Given the description of an element on the screen output the (x, y) to click on. 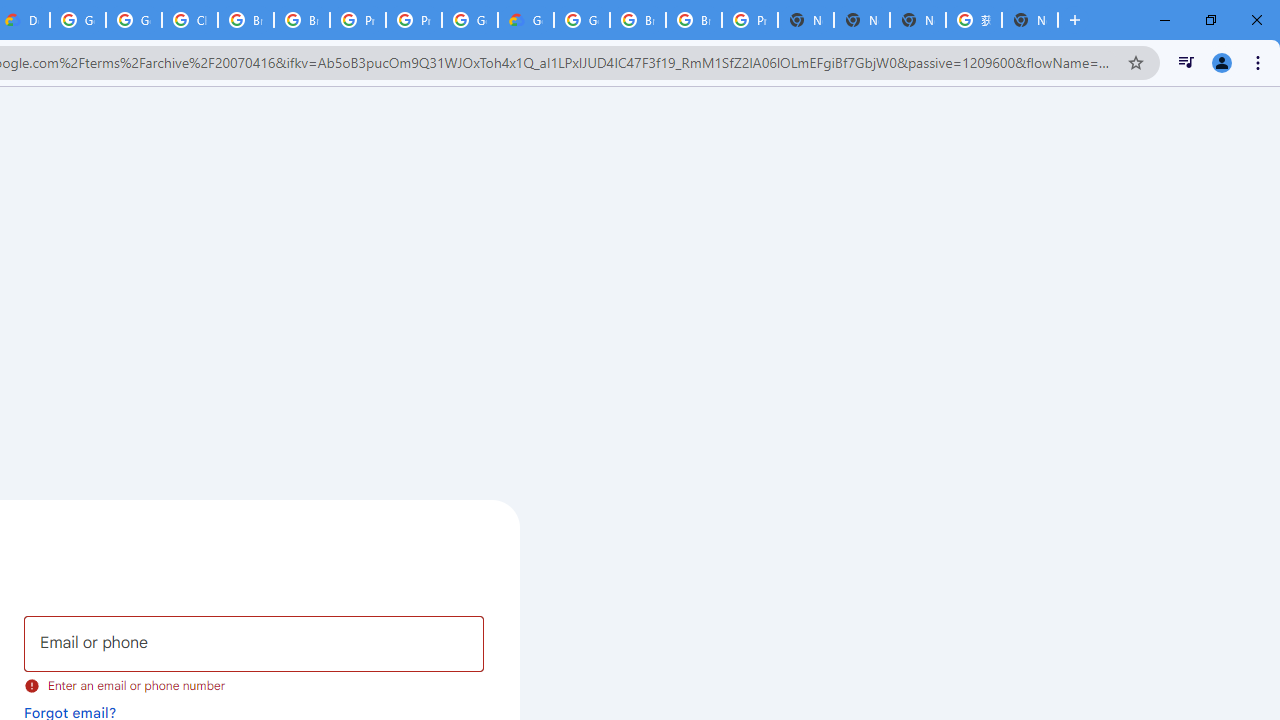
Email or phone (253, 643)
Browse Chrome as a guest - Computer - Google Chrome Help (693, 20)
New Tab (1030, 20)
Browse Chrome as a guest - Computer - Google Chrome Help (637, 20)
Google Cloud Platform (77, 20)
Browse Chrome as a guest - Computer - Google Chrome Help (245, 20)
Google Cloud Platform (582, 20)
Google Cloud Estimate Summary (525, 20)
